Given the description of an element on the screen output the (x, y) to click on. 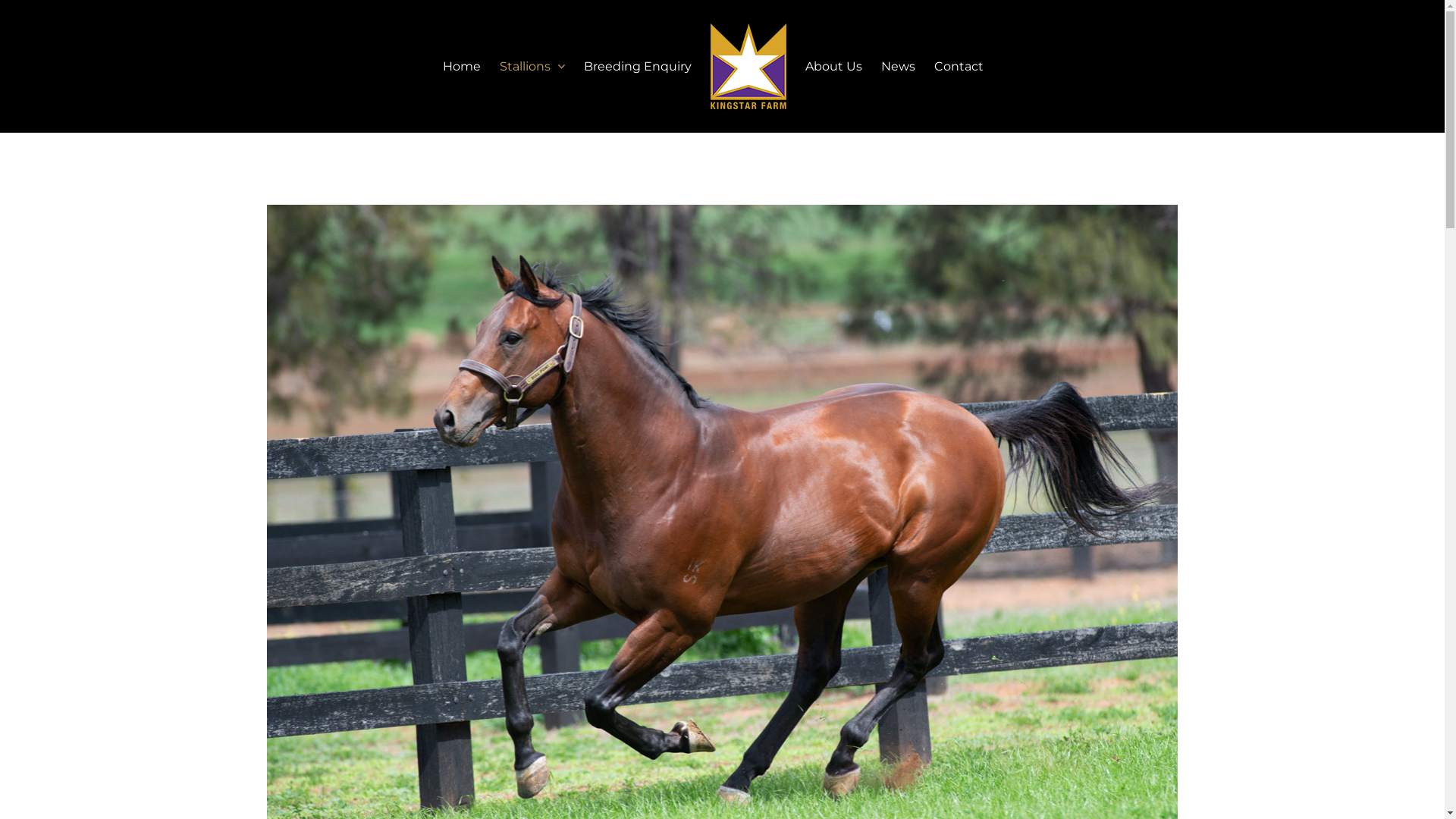
Contact Element type: text (958, 65)
Home Element type: text (461, 65)
Stallions Element type: text (531, 65)
Breeding Enquiry Element type: text (637, 65)
News Element type: text (898, 65)
About Us Element type: text (833, 65)
